Given the description of an element on the screen output the (x, y) to click on. 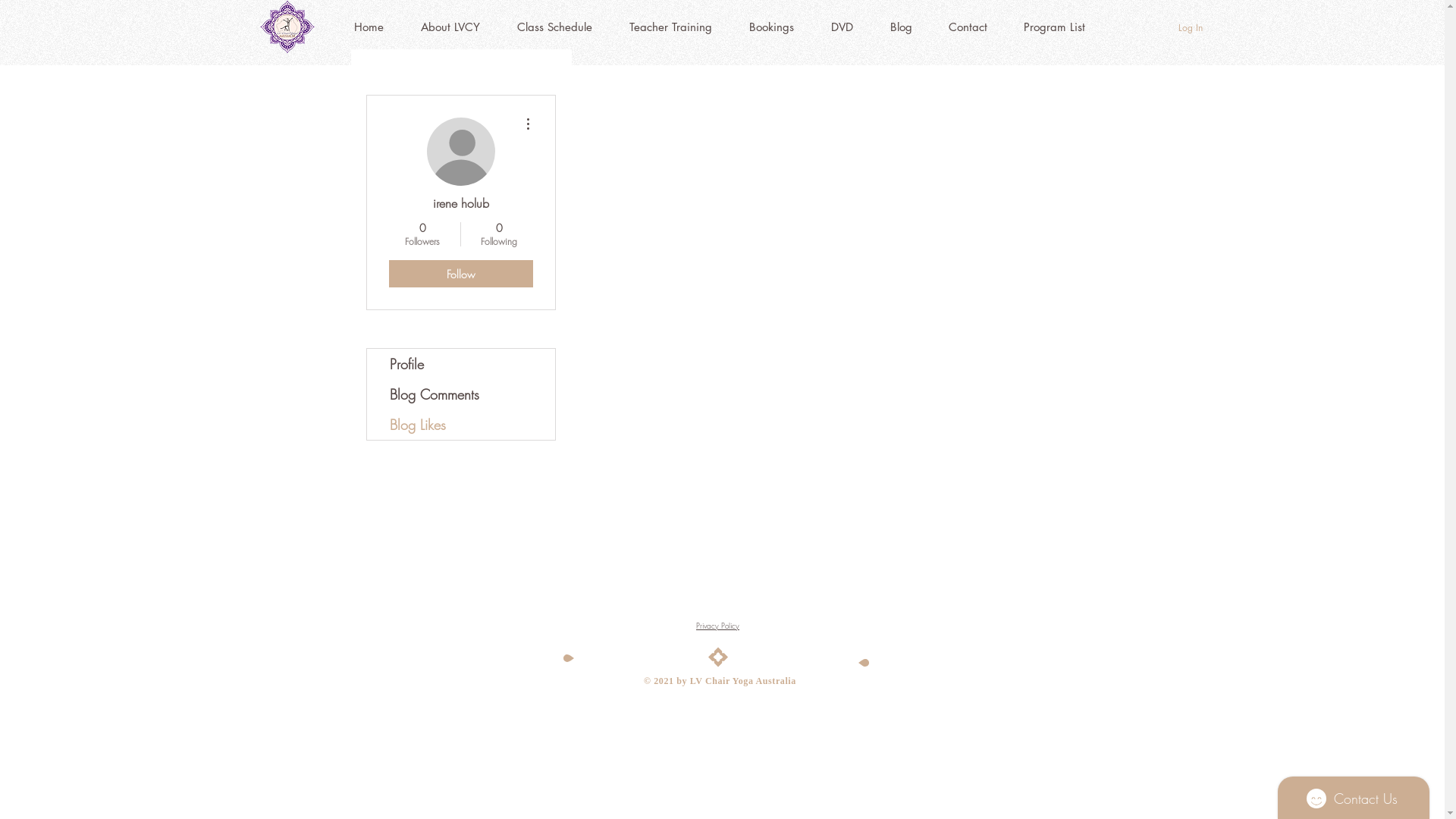
0
Following Element type: text (499, 233)
Follow Element type: text (460, 273)
About LVCY Element type: text (449, 26)
Home Element type: text (368, 26)
Contact Element type: text (966, 26)
Blog Element type: text (901, 26)
Class Schedule Element type: text (554, 26)
Blog Comments Element type: text (461, 394)
Blog Likes Element type: text (461, 424)
Log In Element type: text (1190, 28)
Privacy Policy Element type: text (717, 625)
Site Search Element type: hover (714, 598)
Profile Element type: text (461, 363)
Blog Likes Element type: hover (827, 337)
Teacher Training Element type: text (671, 26)
DVD Element type: text (842, 26)
0
Followers Element type: text (421, 233)
Program List Element type: text (1054, 26)
Bookings Element type: text (771, 26)
